Given the description of an element on the screen output the (x, y) to click on. 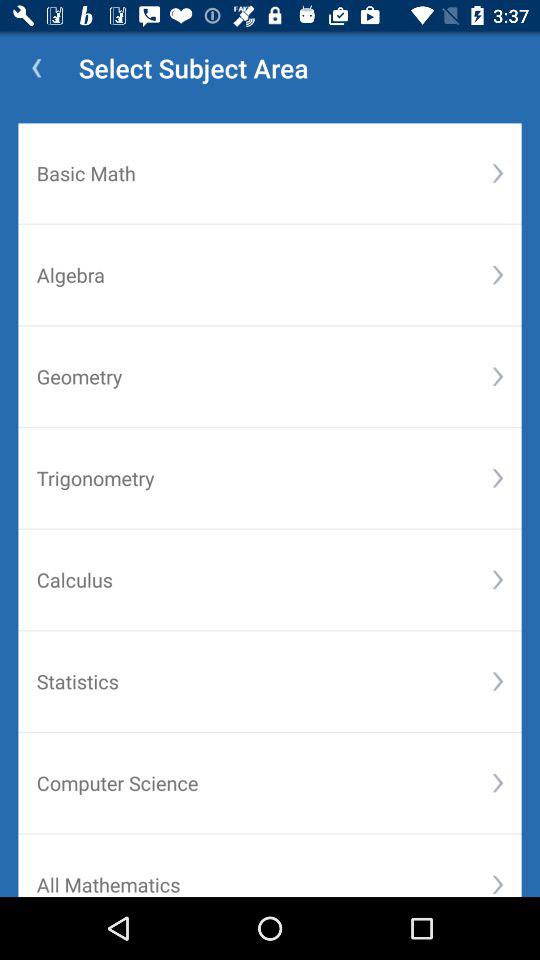
swipe to trigonometry (264, 478)
